Given the description of an element on the screen output the (x, y) to click on. 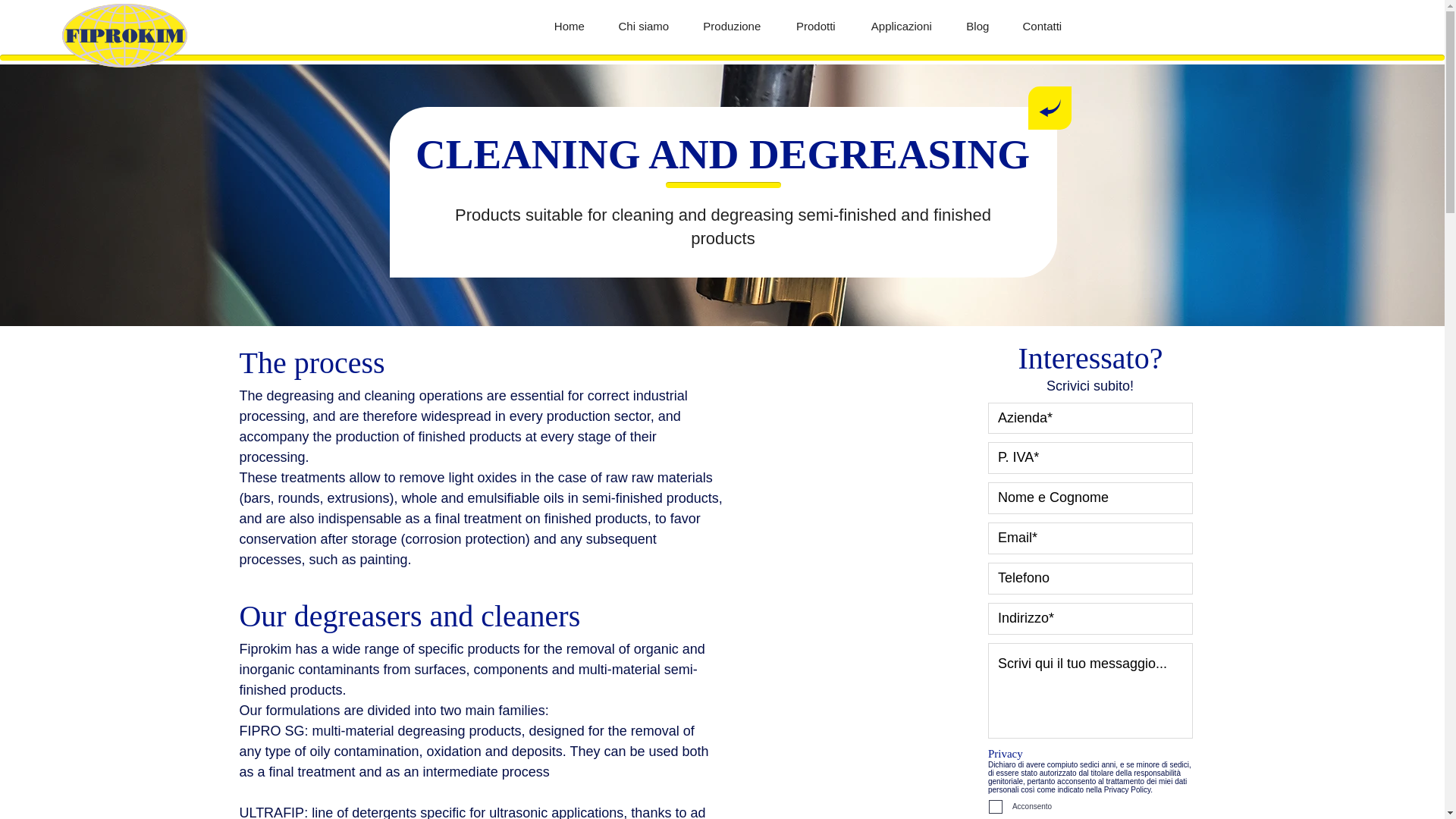
Prodotti (815, 26)
Applicazioni (901, 26)
Blog (977, 26)
Produzione (731, 26)
Home (569, 26)
Contatti (1042, 26)
Chi siamo (643, 26)
